Given the description of an element on the screen output the (x, y) to click on. 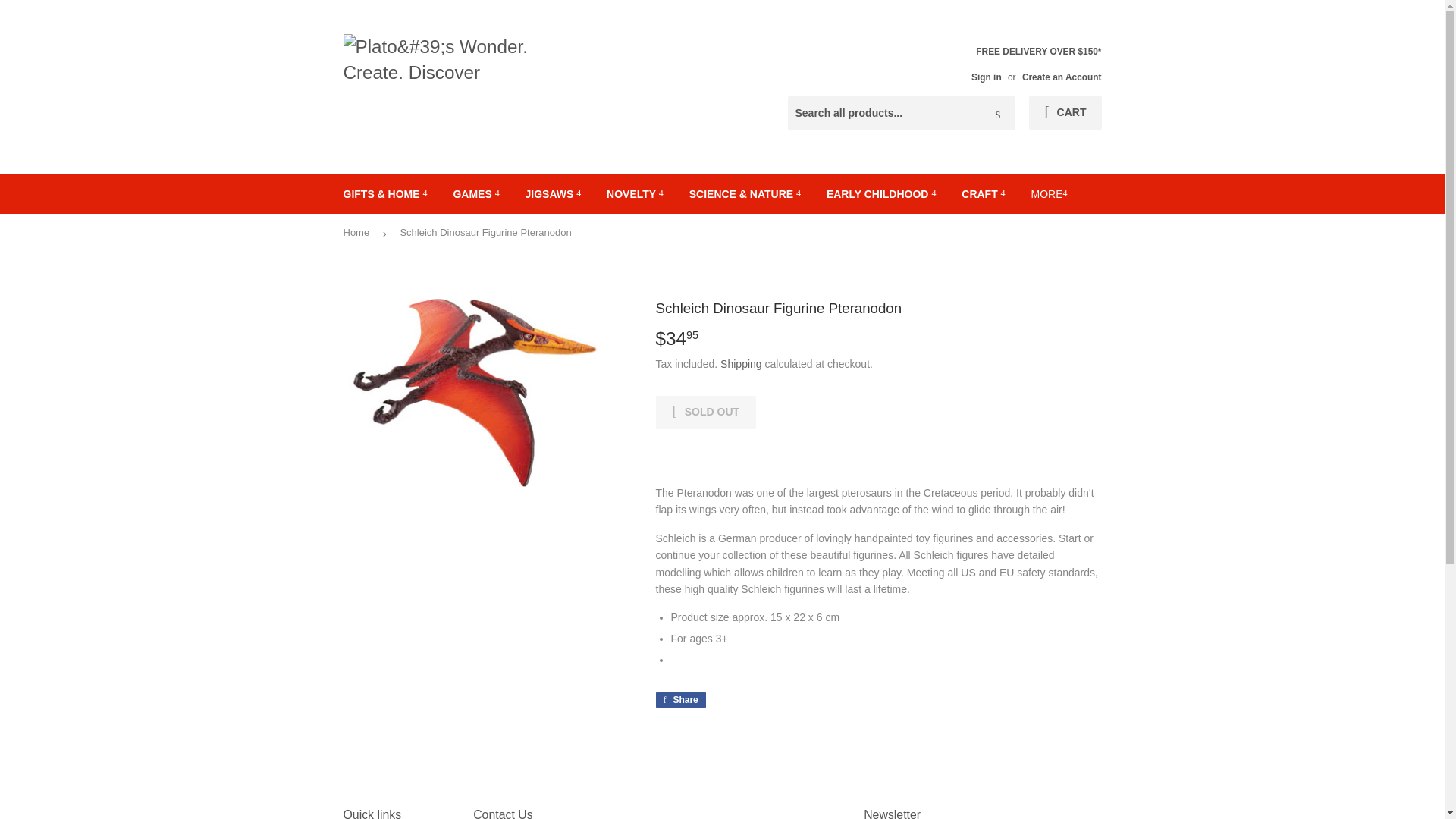
Sign in (986, 77)
Create an Account (1062, 77)
CART (1064, 112)
Search (997, 113)
Share on Facebook (679, 699)
